Given the description of an element on the screen output the (x, y) to click on. 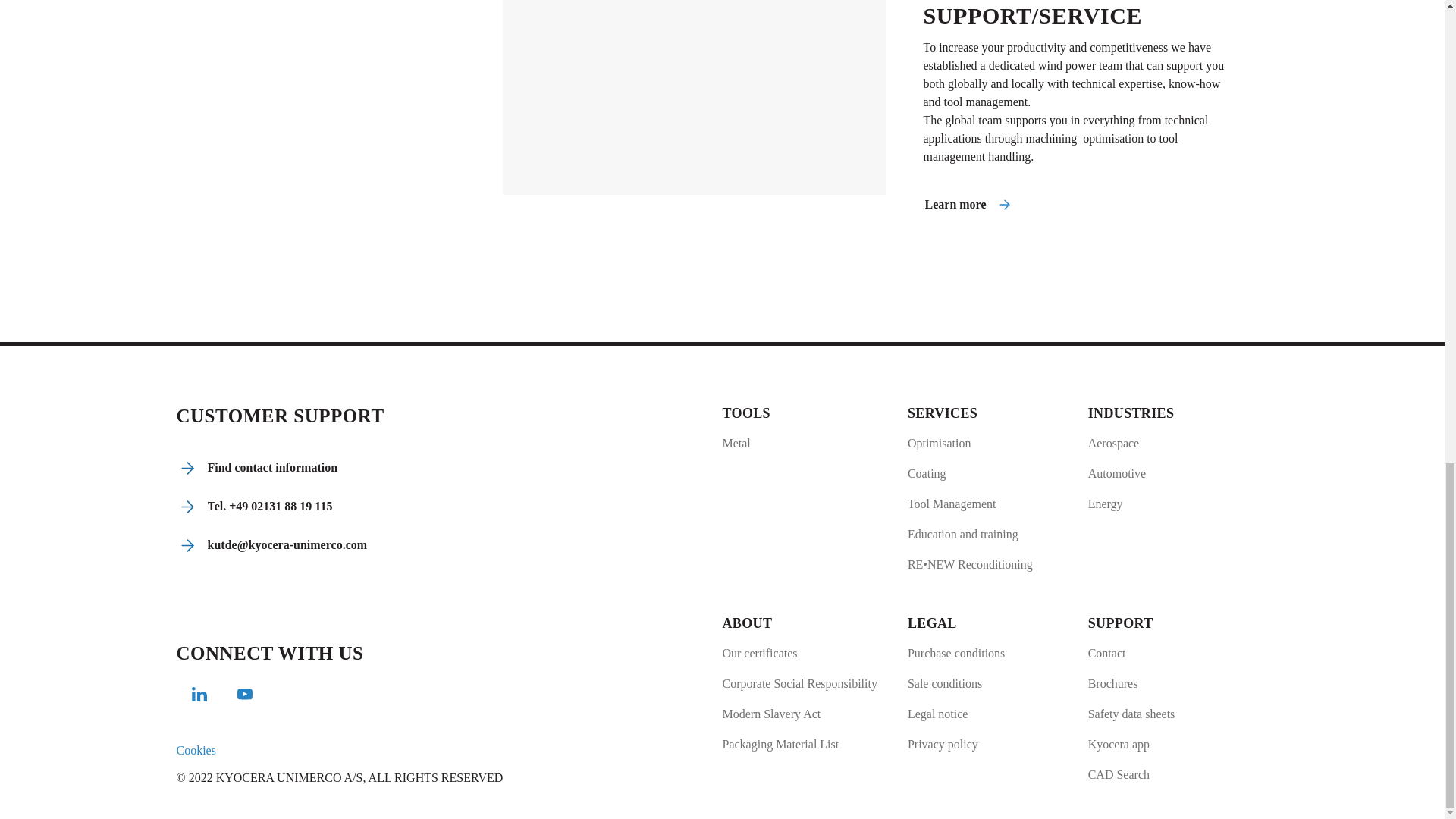
Coating (969, 474)
Cookies (195, 749)
YouTube (243, 697)
Find contact information (257, 467)
Metal (746, 443)
Connect (198, 697)
Learn more (968, 204)
Optimisation (969, 443)
Find contact information (257, 467)
